Given the description of an element on the screen output the (x, y) to click on. 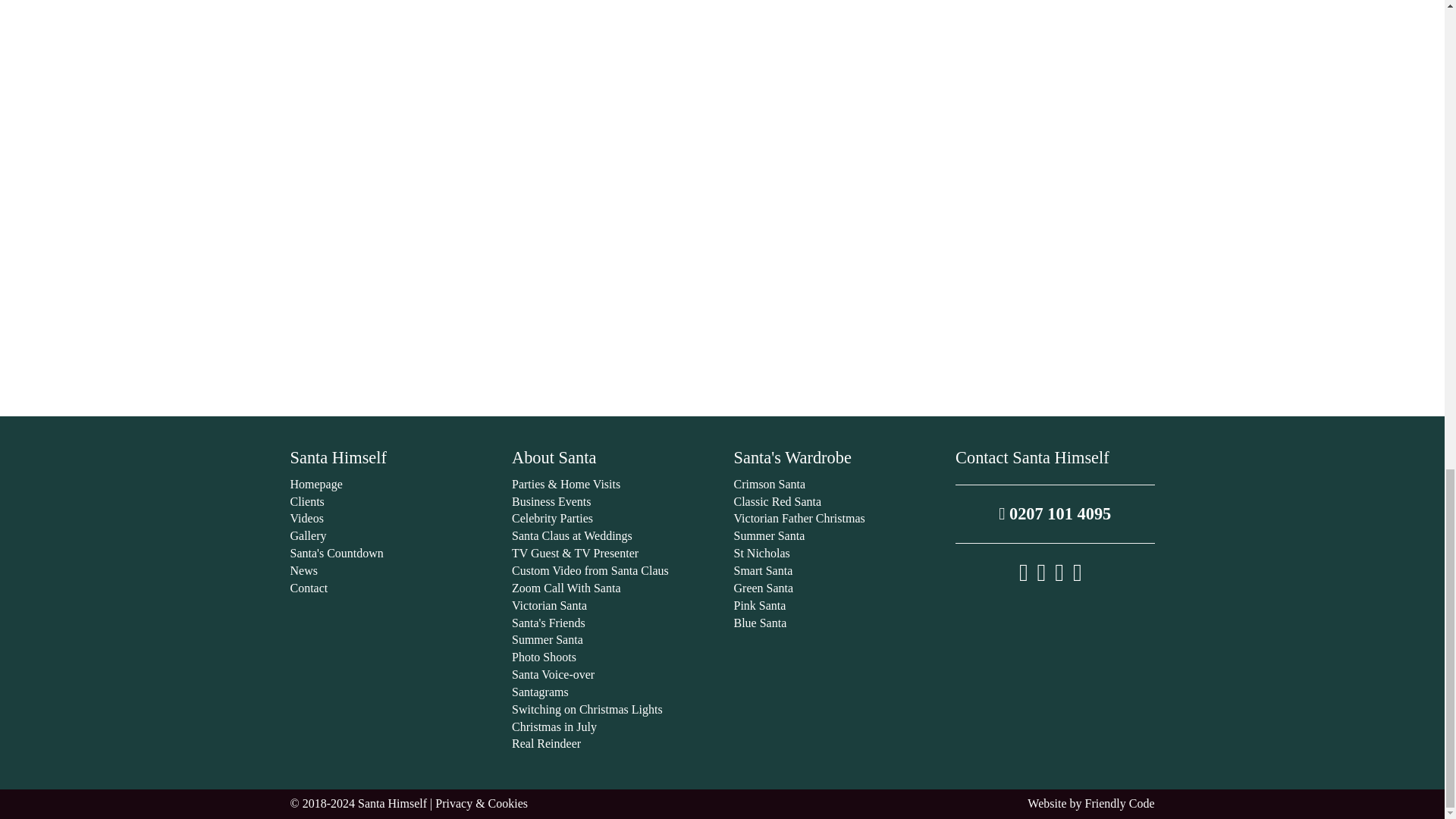
Ideal World TV (722, 318)
The One Show (722, 270)
The Wright Stuff (722, 367)
Michael McIntyre's Big Christmas Show (722, 124)
Good Morning Britain (722, 173)
Pointless Christmas Celebrities (722, 222)
Judge Rinder (722, 76)
Create and Craft TV (722, 28)
